Given the description of an element on the screen output the (x, y) to click on. 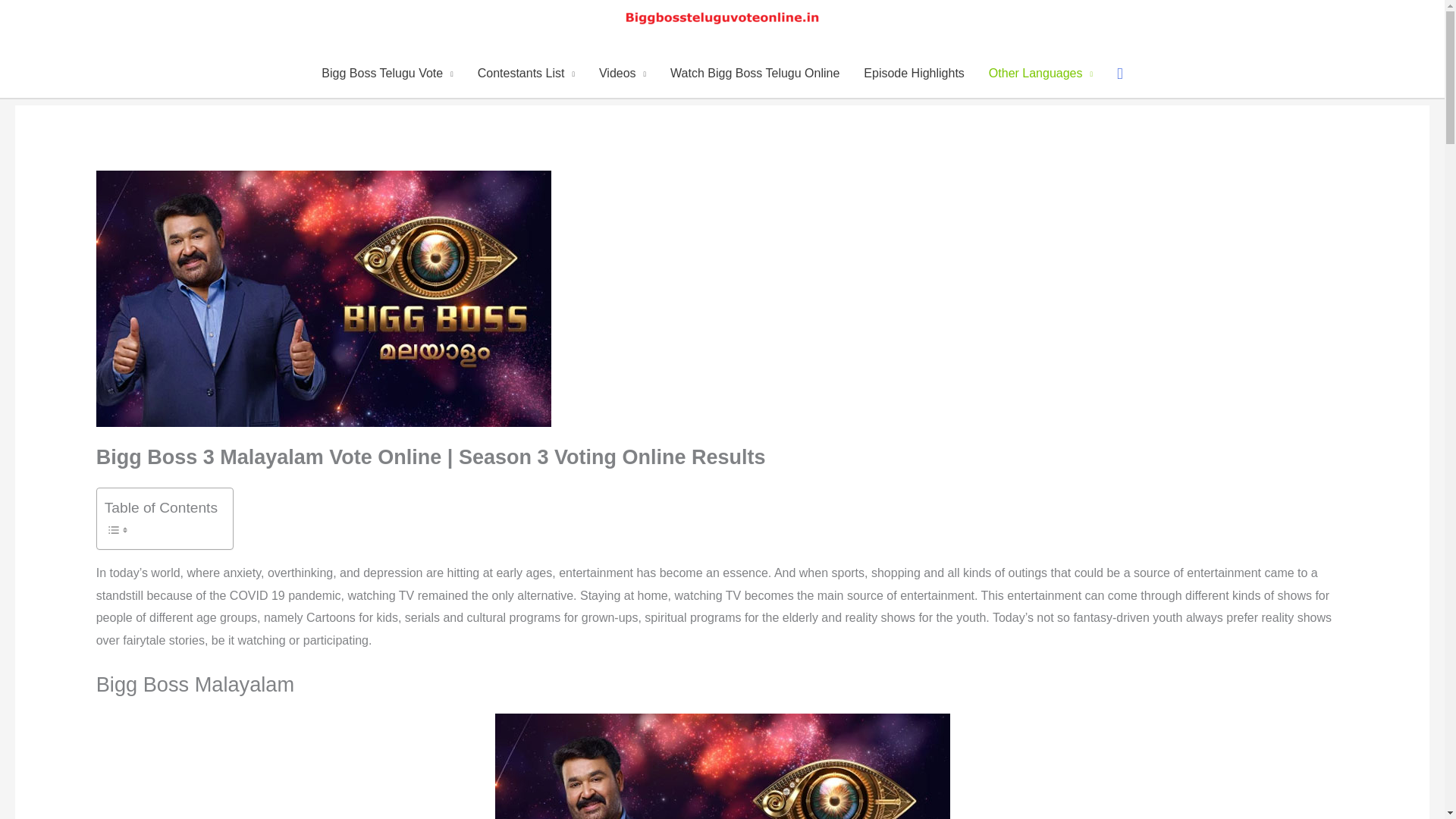
Bigg Boss Telugu Vote (386, 73)
Episode Highlights (913, 73)
Other Languages (1040, 73)
Videos (622, 73)
Contestants List (525, 73)
Watch Bigg Boss Telugu Online (754, 73)
